Given the description of an element on the screen output the (x, y) to click on. 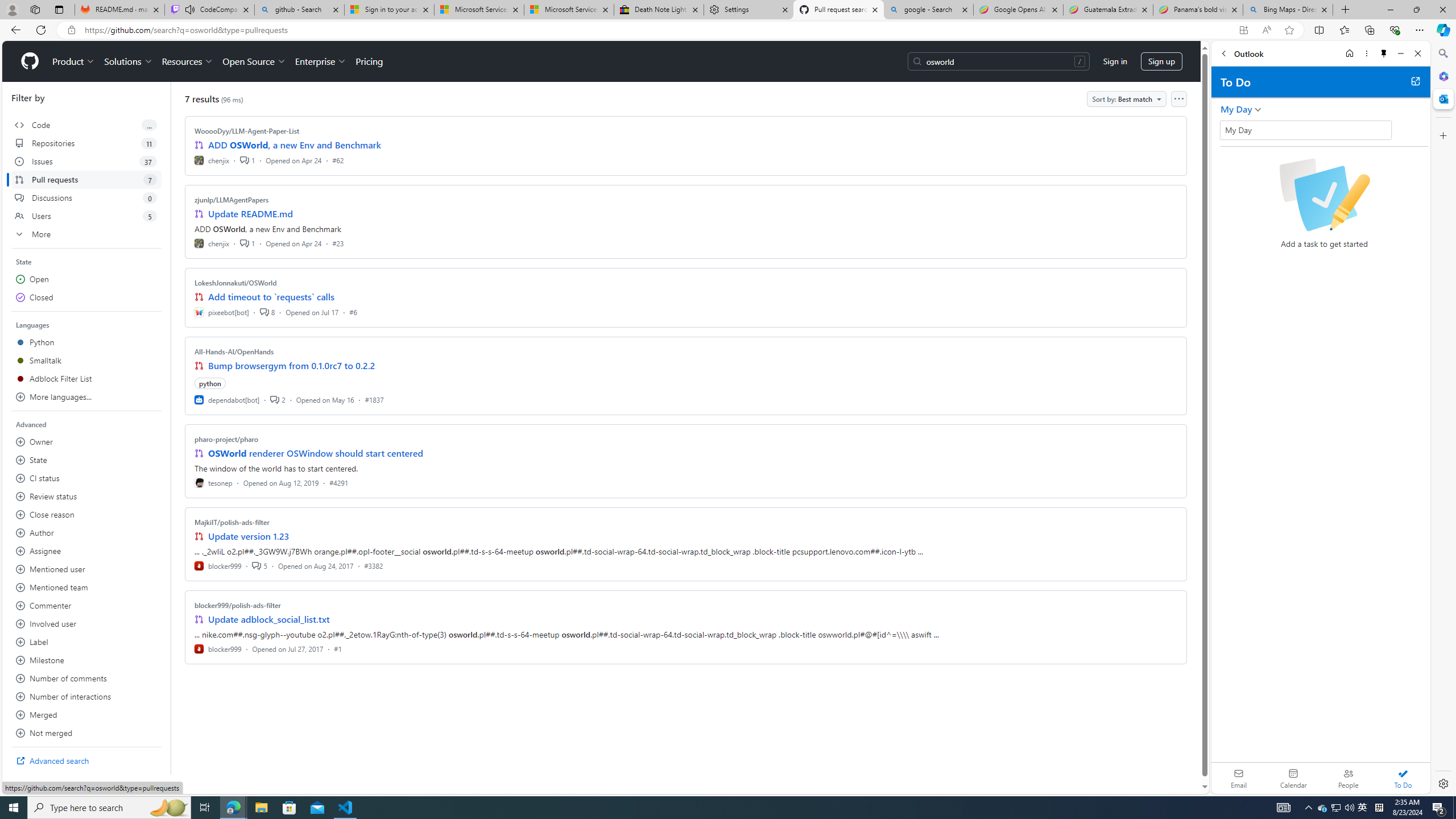
Microsoft Services Agreement (568, 9)
People (1347, 777)
Product (74, 60)
dependabot[bot] (227, 398)
Customize (1442, 135)
